Given the description of an element on the screen output the (x, y) to click on. 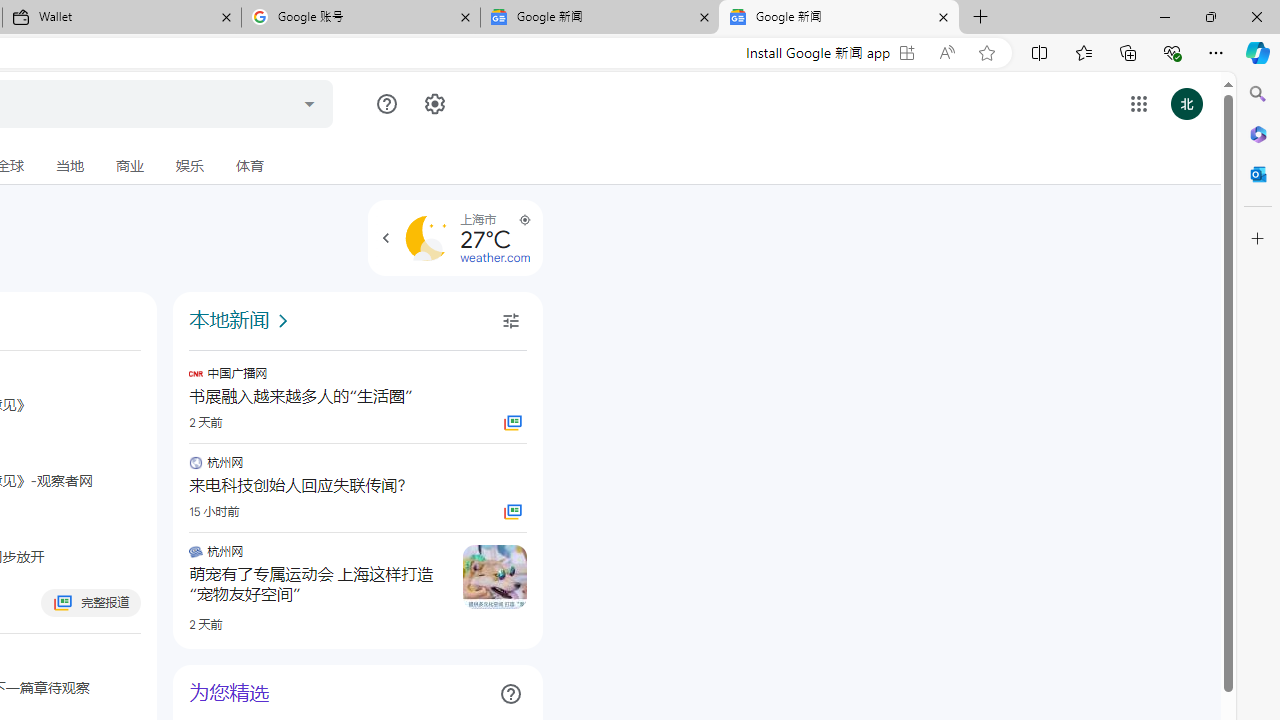
Class: zRMMZb NMm5M (524, 219)
